Given the description of an element on the screen output the (x, y) to click on. 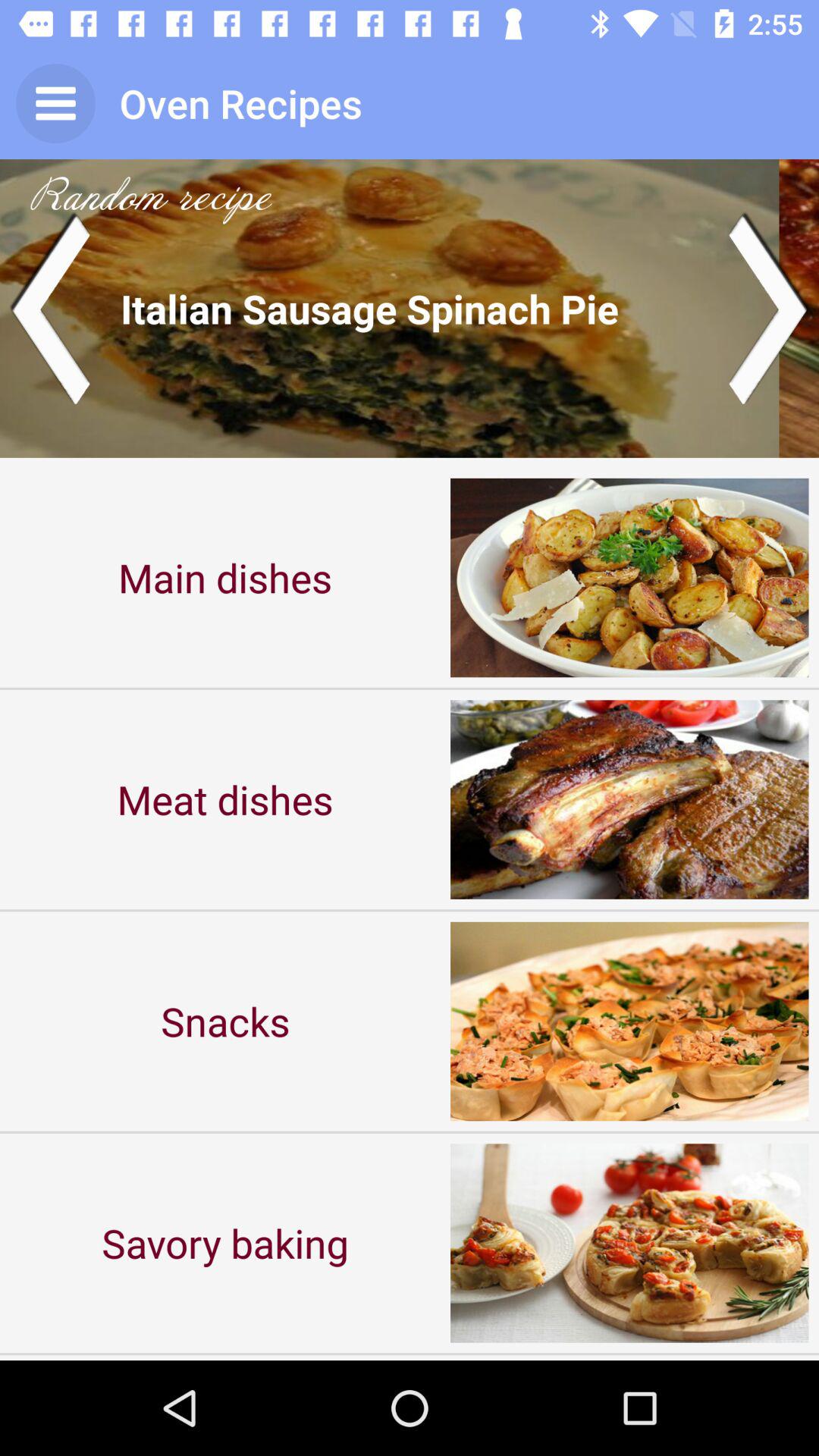
open the item next to oven recipes item (55, 103)
